Given the description of an element on the screen output the (x, y) to click on. 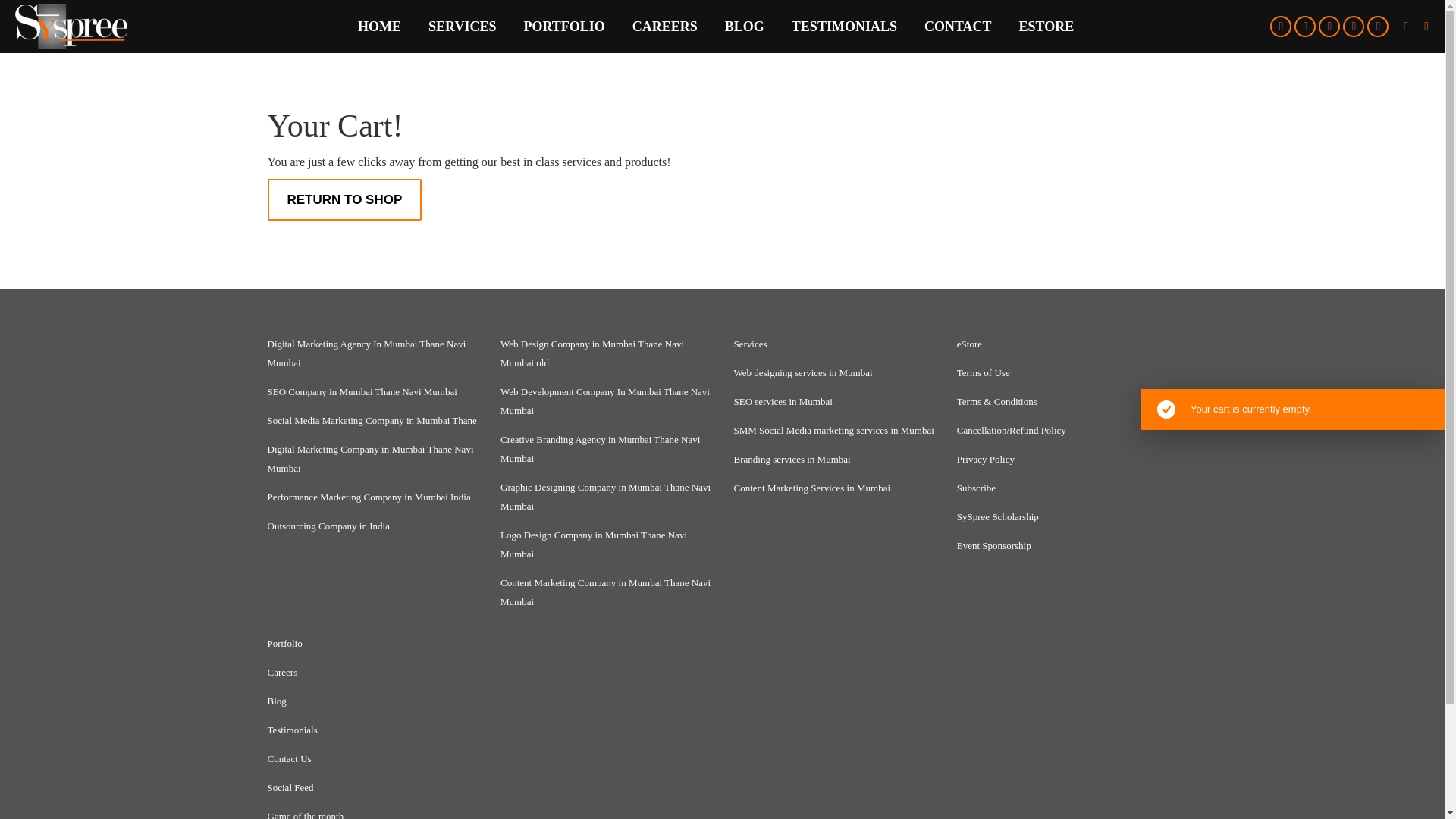
Pinterest page opens in new window (1353, 25)
TESTIMONIALS (844, 26)
PORTFOLIO (563, 26)
HOME (379, 26)
Facebook page opens in new window (1280, 25)
SERVICES (462, 26)
CAREERS (664, 26)
ESTORE (1046, 26)
CONTACT (957, 26)
X page opens in new window (1305, 25)
Linkedin page opens in new window (1329, 25)
Pinterest page opens in new window (1353, 25)
Linkedin page opens in new window (1329, 25)
Instagram page opens in new window (1378, 25)
BLOG (744, 26)
